Given the description of an element on the screen output the (x, y) to click on. 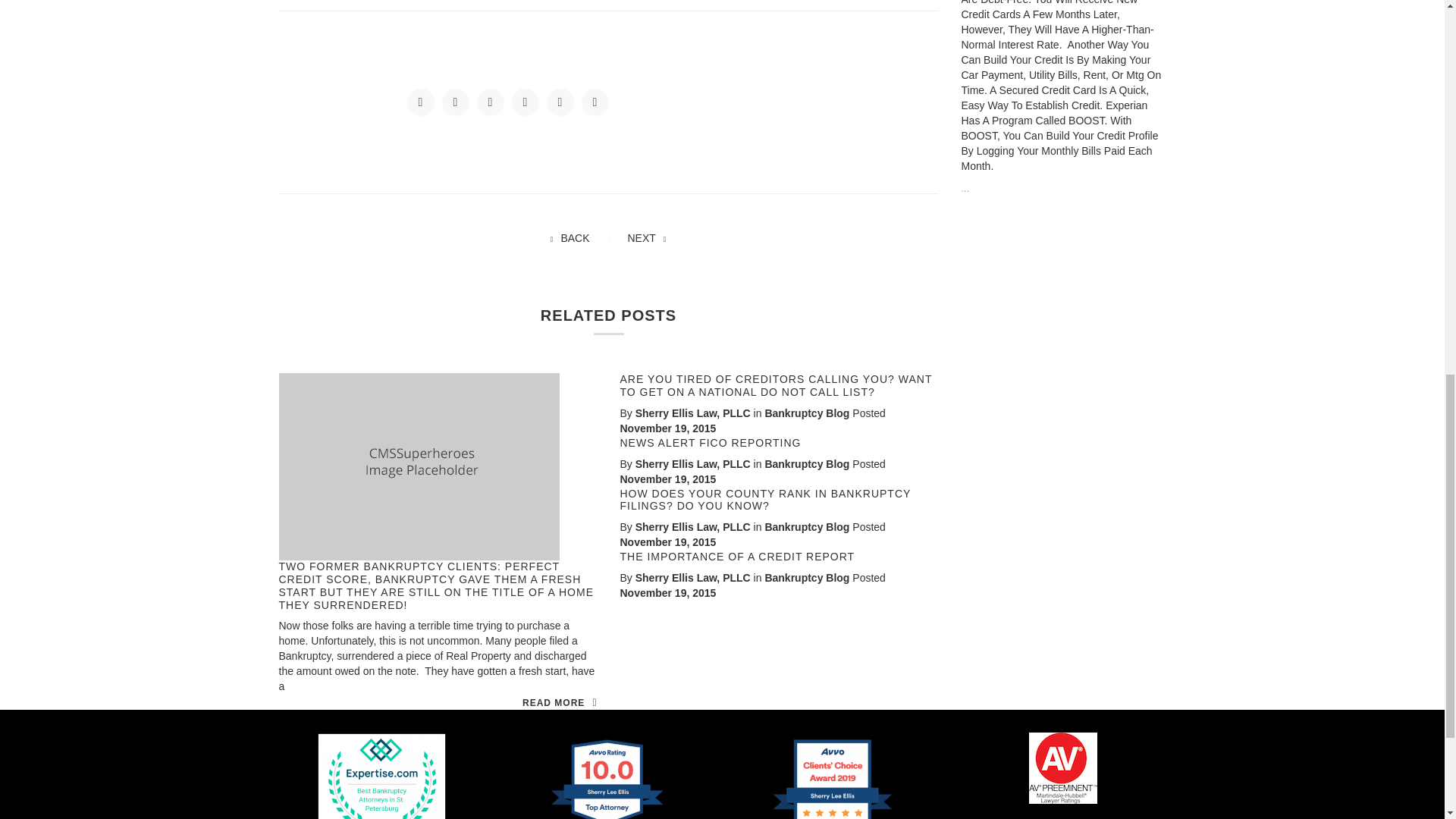
View all posts date November 19, 2015 (668, 428)
View all posts date November 19, 2015 (668, 592)
View all posts in Bankruptcy Blog (806, 577)
View all posts date November 19, 2015 (668, 541)
View all posts in Bankruptcy Blog (806, 463)
Posts by Sherry Ellis Law, PLLC (692, 413)
View all posts date November 19, 2015 (668, 479)
Posts by Sherry Ellis Law, PLLC (692, 463)
Posts by Sherry Ellis Law, PLLC (692, 577)
View all posts in Bankruptcy Blog (806, 413)
View all posts in Bankruptcy Blog (806, 526)
Posts by Sherry Ellis Law, PLLC (692, 526)
